Given the description of an element on the screen output the (x, y) to click on. 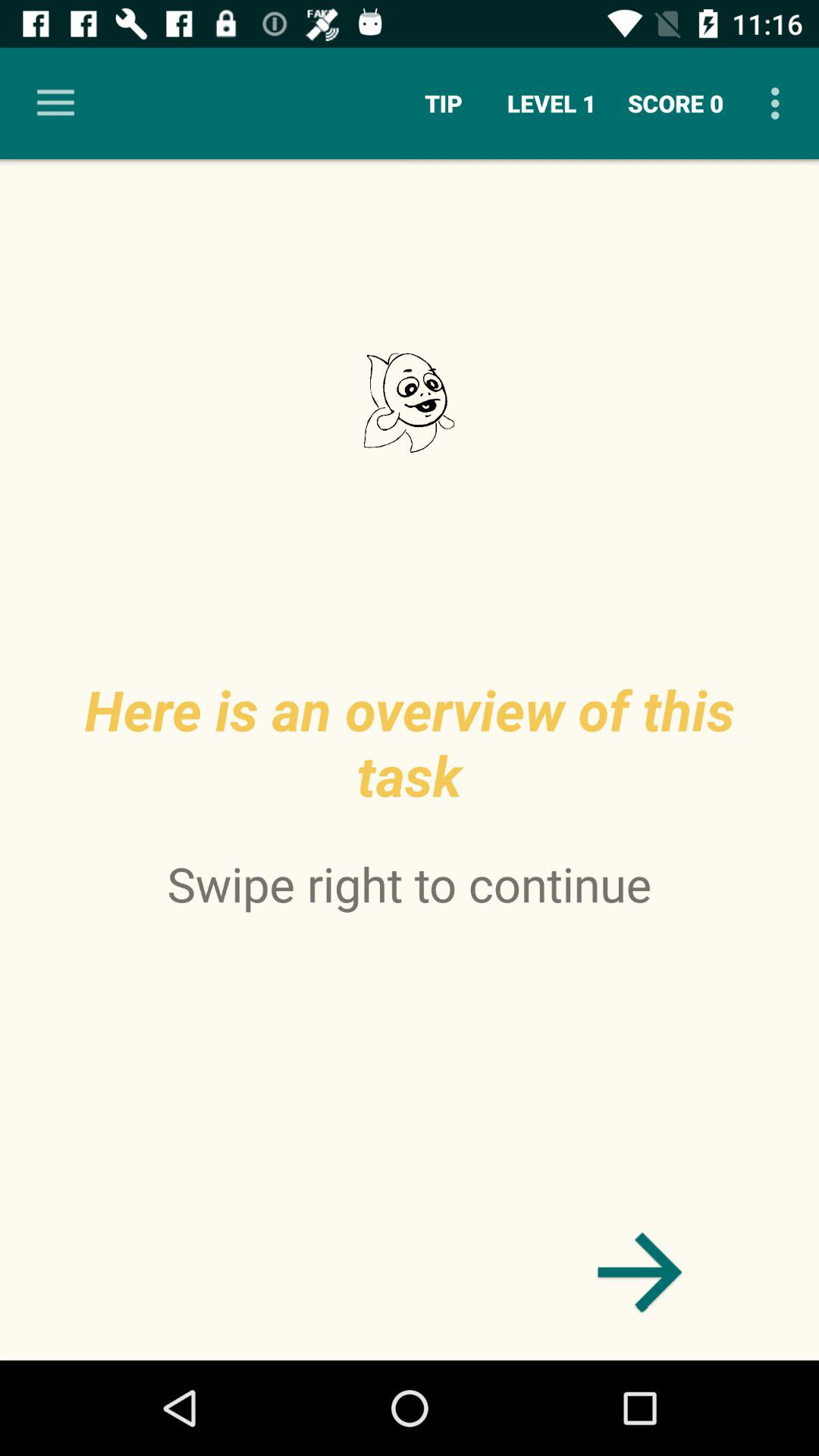
press the icon to the right of the level 1 item (675, 103)
